Given the description of an element on the screen output the (x, y) to click on. 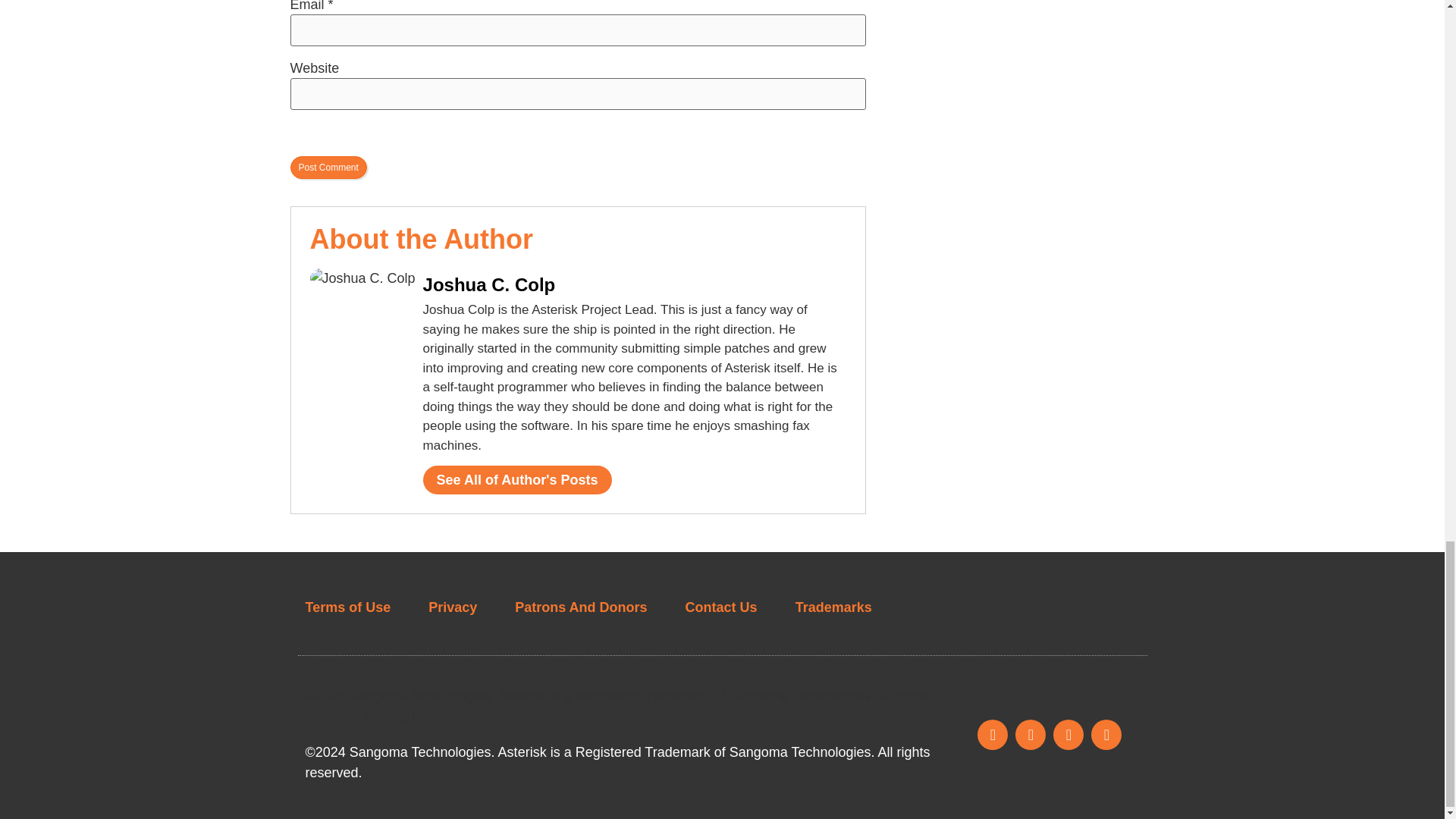
Post Comment (327, 167)
